Given the description of an element on the screen output the (x, y) to click on. 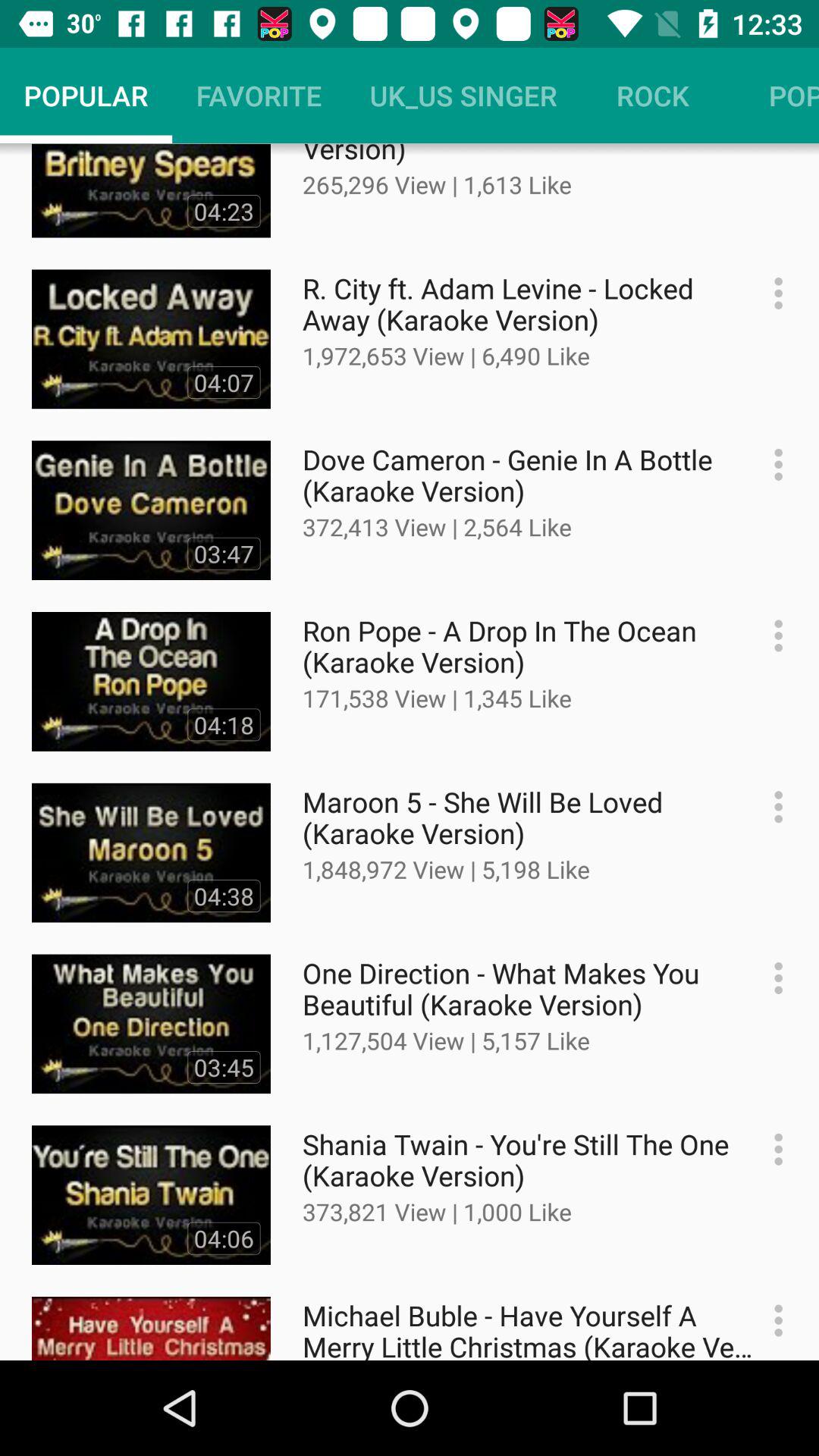
open other settings (770, 635)
